Given the description of an element on the screen output the (x, y) to click on. 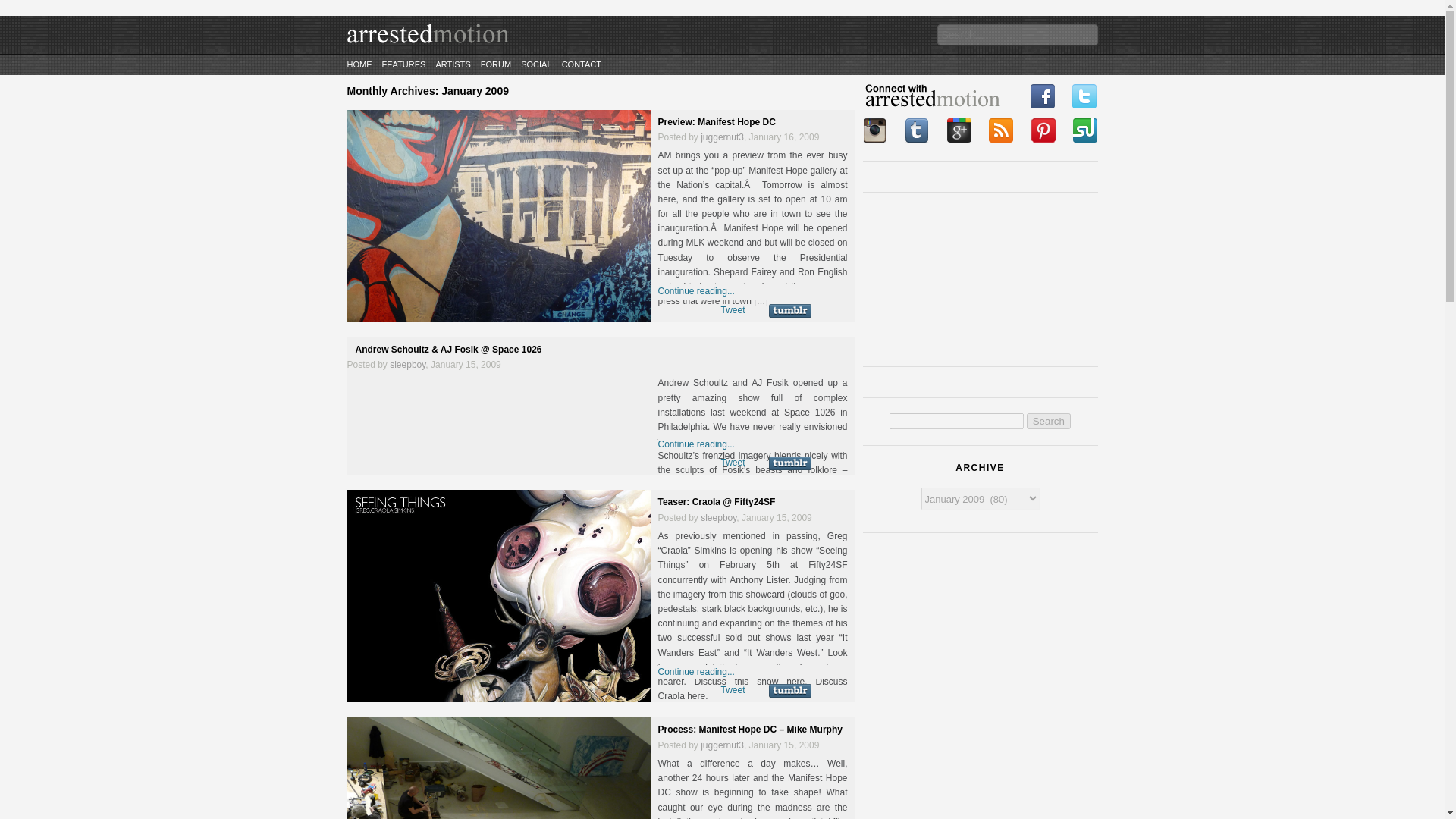
juggernut3 (722, 745)
Search (1048, 421)
Continue reading... (696, 443)
FORUM (495, 63)
sleepboy (407, 364)
HOME (359, 63)
Tweet (732, 689)
Tweet (732, 462)
Continue reading... (696, 290)
Preview: Manifest Hope DC (717, 122)
